Given the description of an element on the screen output the (x, y) to click on. 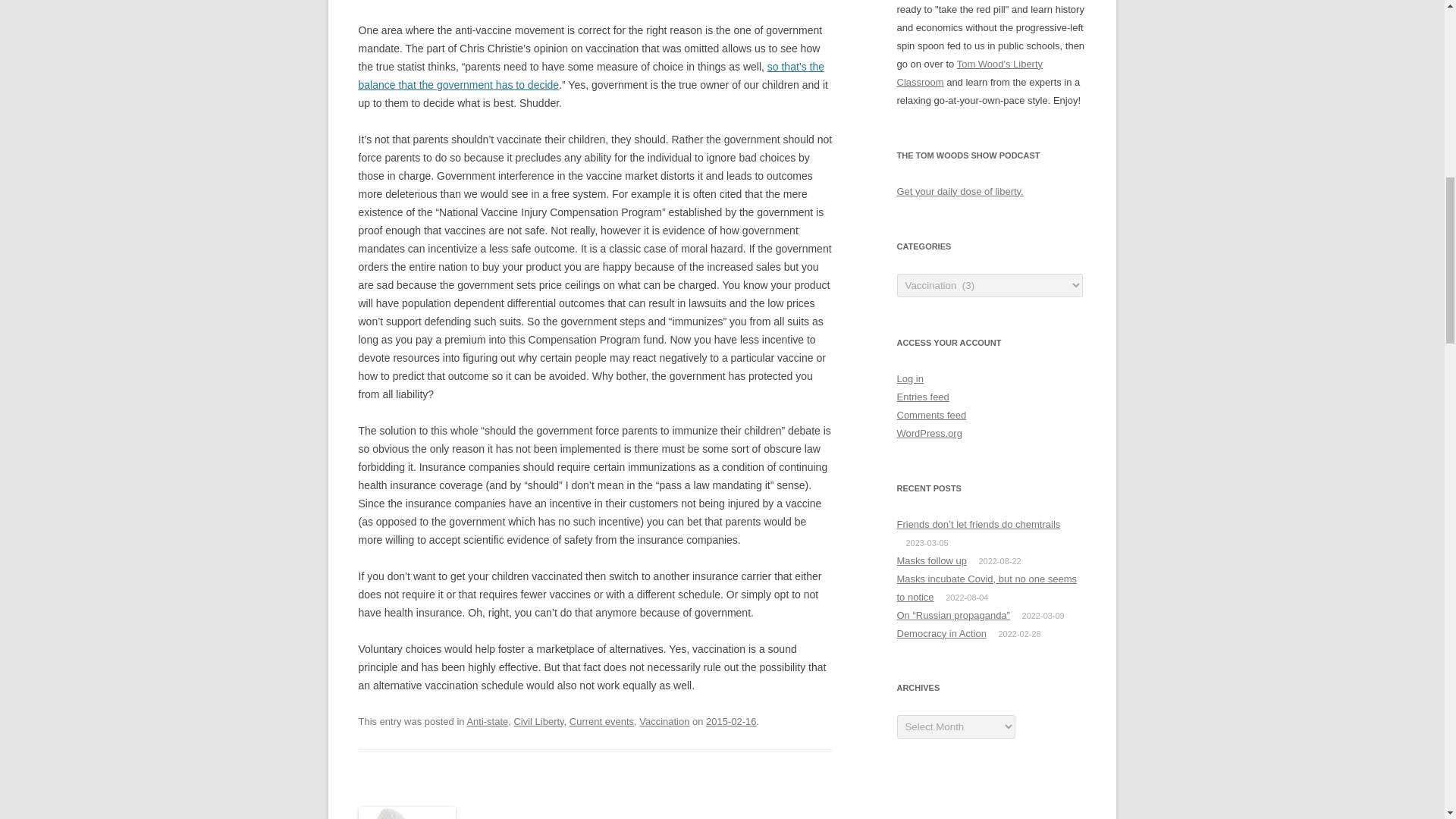
14:32 (730, 721)
